Given the description of an element on the screen output the (x, y) to click on. 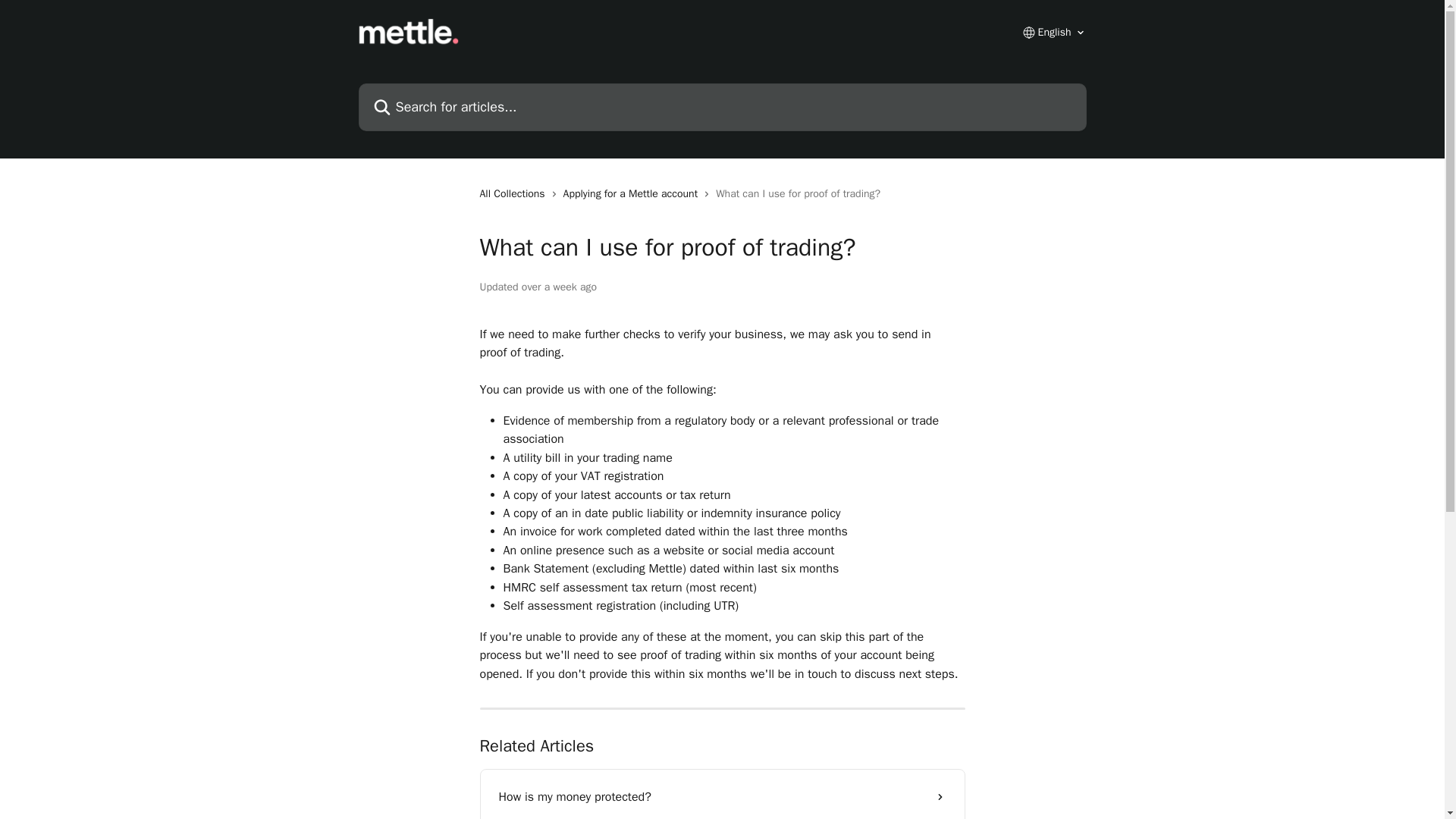
All Collections (514, 193)
How is my money protected? (722, 796)
Applying for a Mettle account (633, 193)
